Given the description of an element on the screen output the (x, y) to click on. 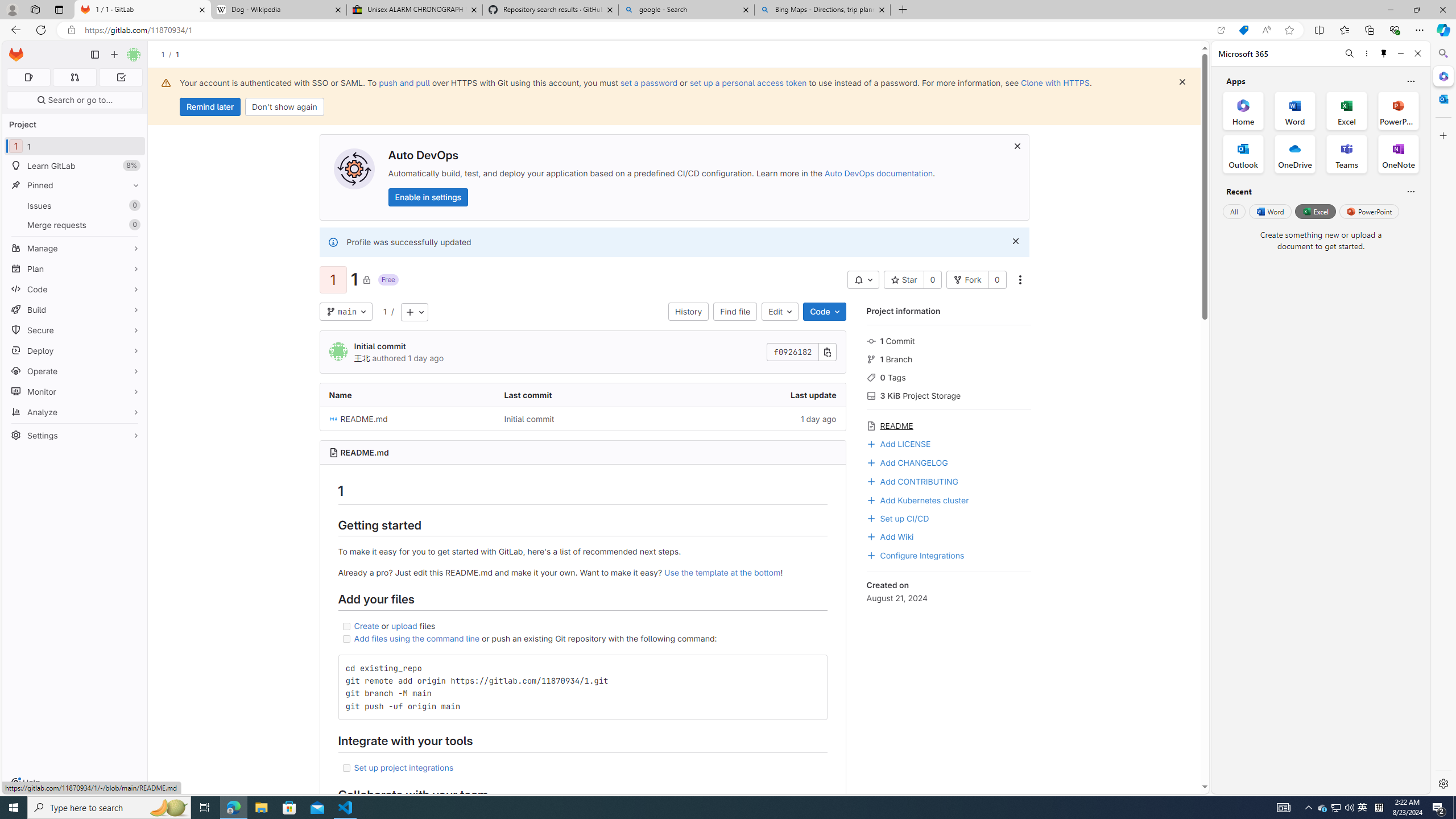
 Star (903, 280)
Class: s16 gl-mr-3 (871, 536)
Merge requests 0 (74, 76)
All (1233, 210)
PowerPoint (1369, 210)
Home Office App (1243, 110)
Add CHANGELOG (906, 461)
Add LICENSE (898, 442)
Add LICENSE (948, 442)
More actions (1019, 280)
Build (74, 309)
Analyze (74, 411)
